Given the description of an element on the screen output the (x, y) to click on. 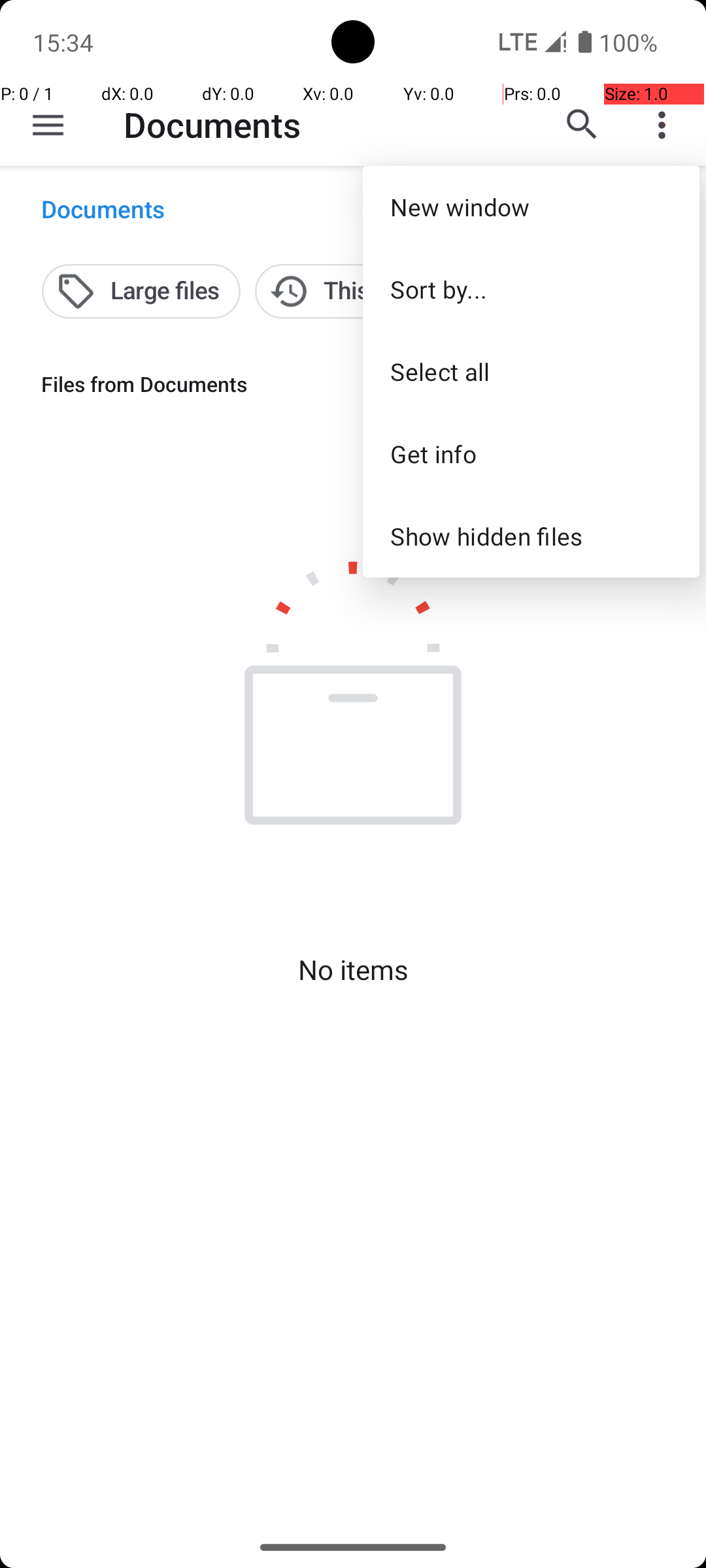
New window Element type: android.widget.TextView (531, 206)
Select all Element type: android.widget.TextView (531, 371)
Get info Element type: android.widget.TextView (531, 453)
